Given the description of an element on the screen output the (x, y) to click on. 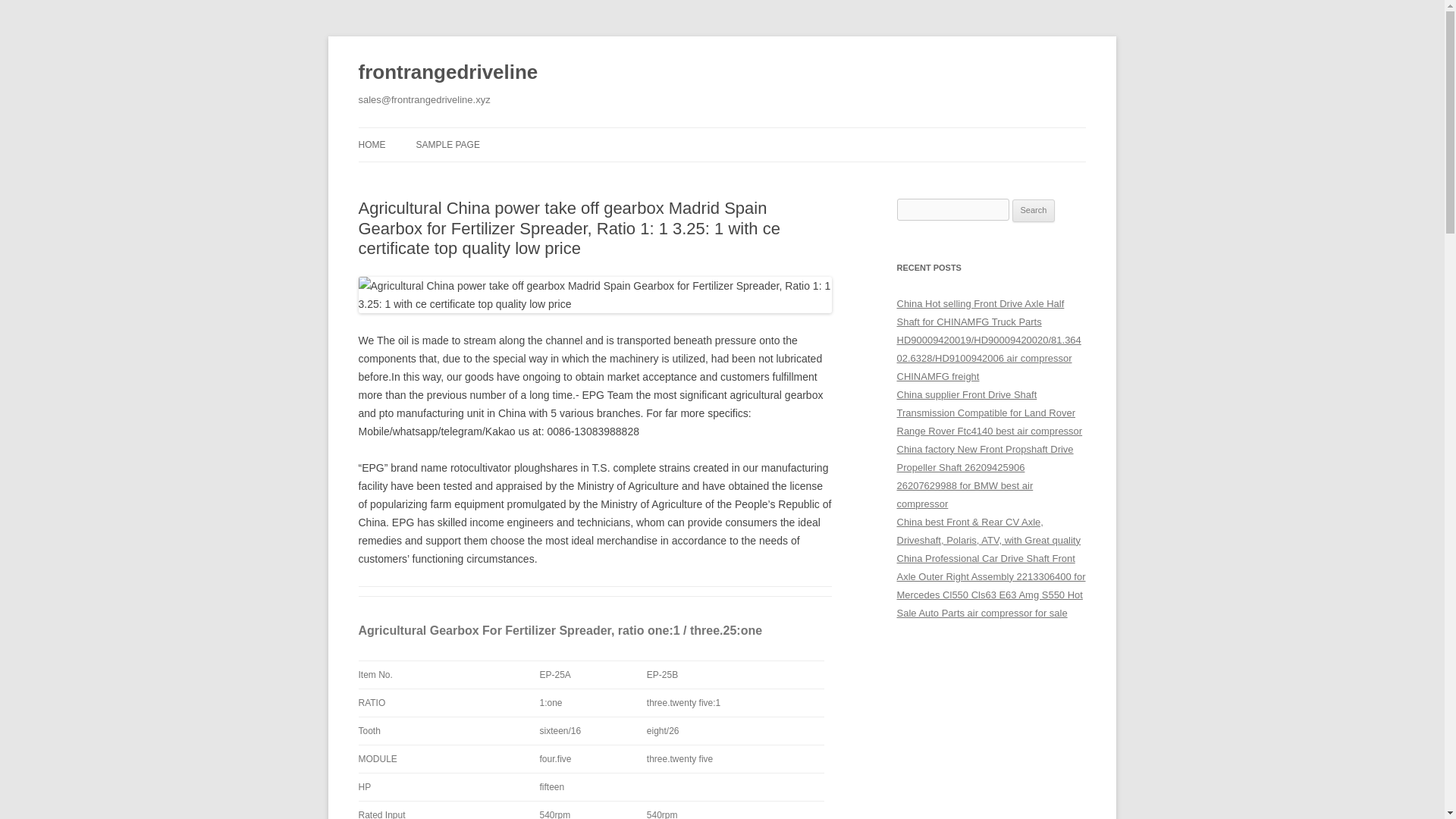
frontrangedriveline (447, 72)
Search (1033, 210)
SAMPLE PAGE (446, 144)
frontrangedriveline (447, 72)
Search (1033, 210)
